Given the description of an element on the screen output the (x, y) to click on. 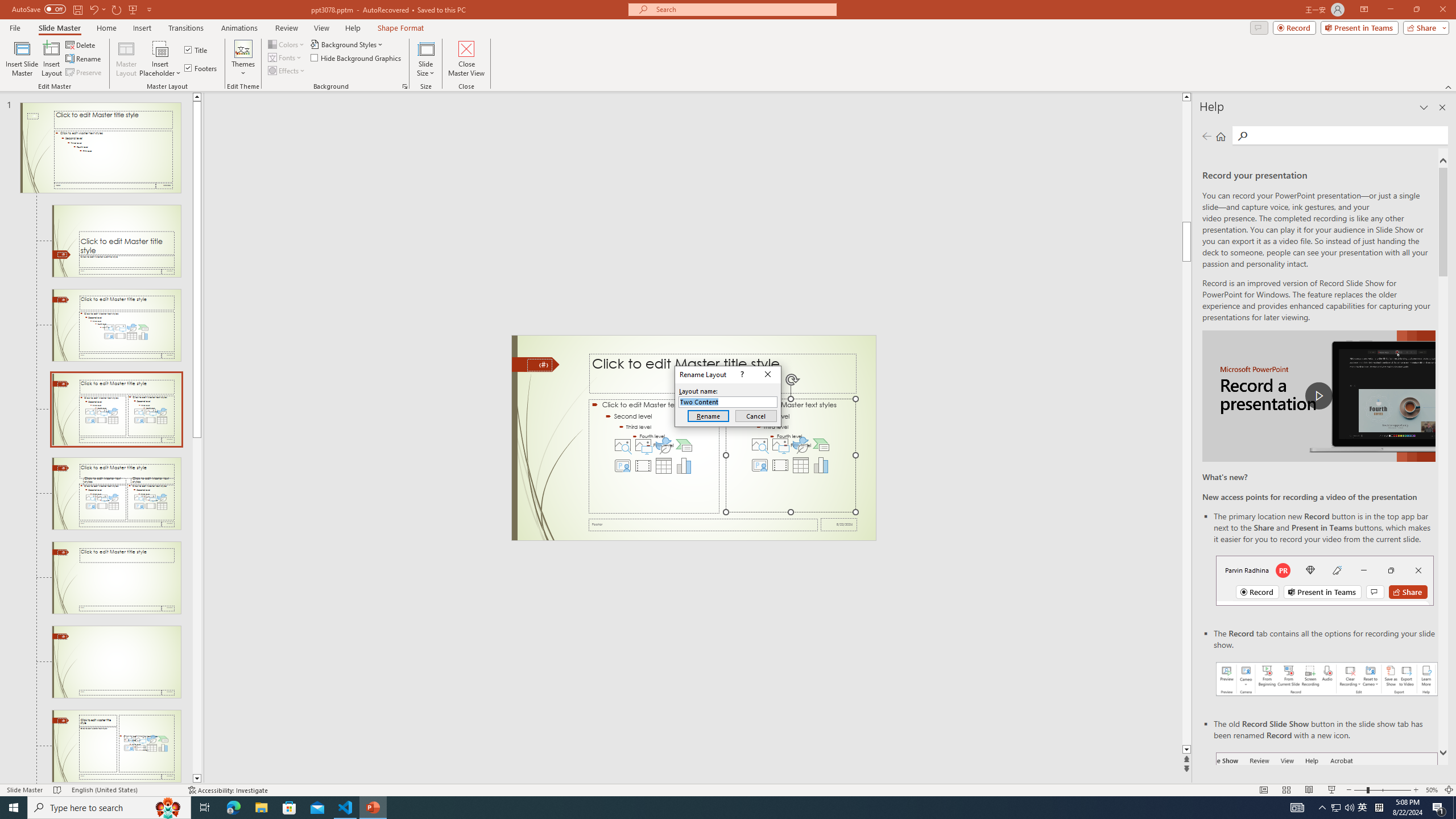
Footer (703, 524)
Record button in top bar (1324, 580)
Slide Comparison Layout: used by no slides (116, 577)
Title (196, 49)
Insert Placeholder (160, 58)
